Given the description of an element on the screen output the (x, y) to click on. 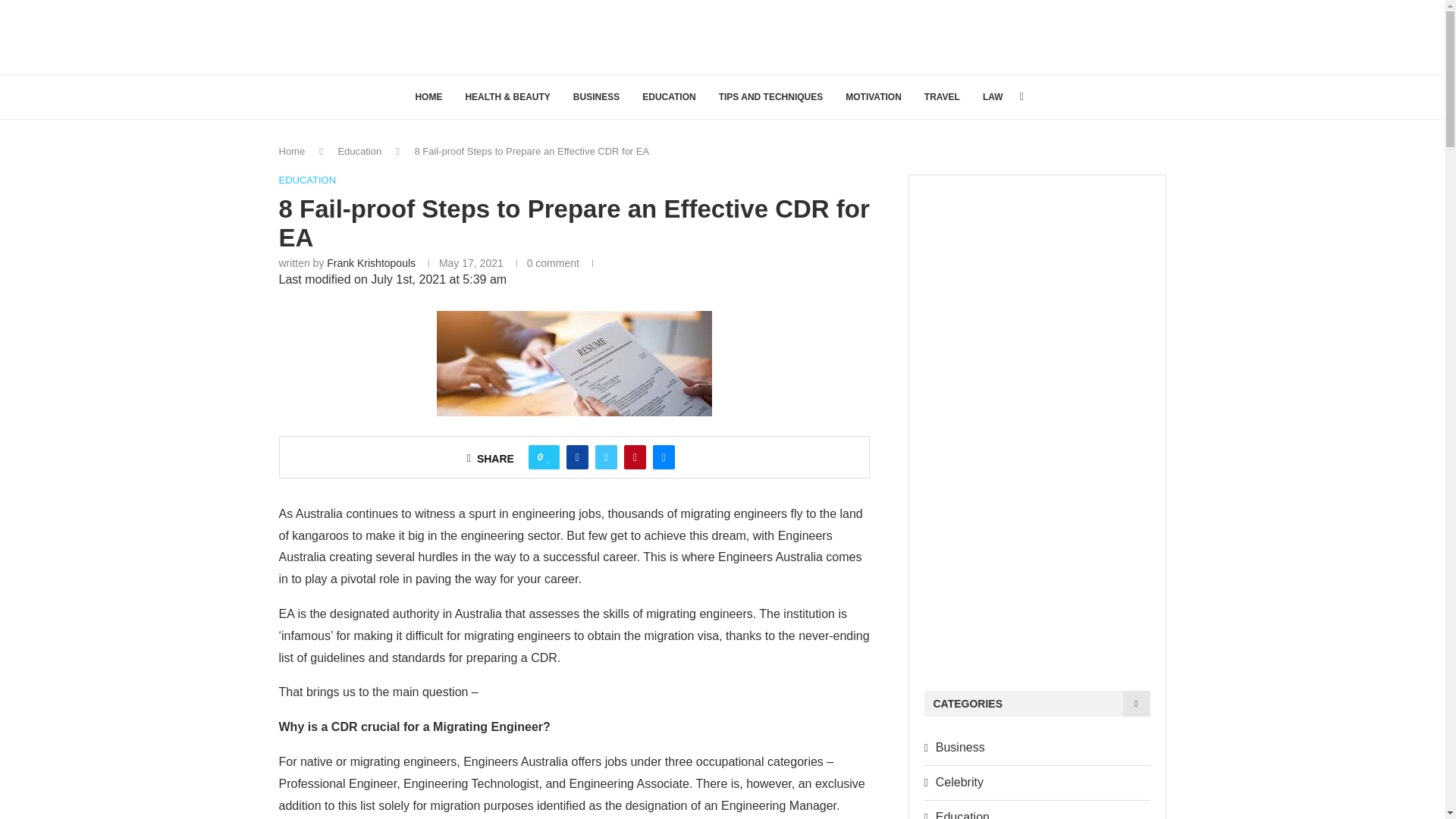
EDUCATION (307, 180)
EDUCATION (668, 96)
BUSINESS (596, 96)
Frank Krishtopouls (370, 263)
Home (292, 151)
MOTIVATION (873, 96)
TIPS AND TECHNIQUES (771, 96)
Education (359, 151)
